Given the description of an element on the screen output the (x, y) to click on. 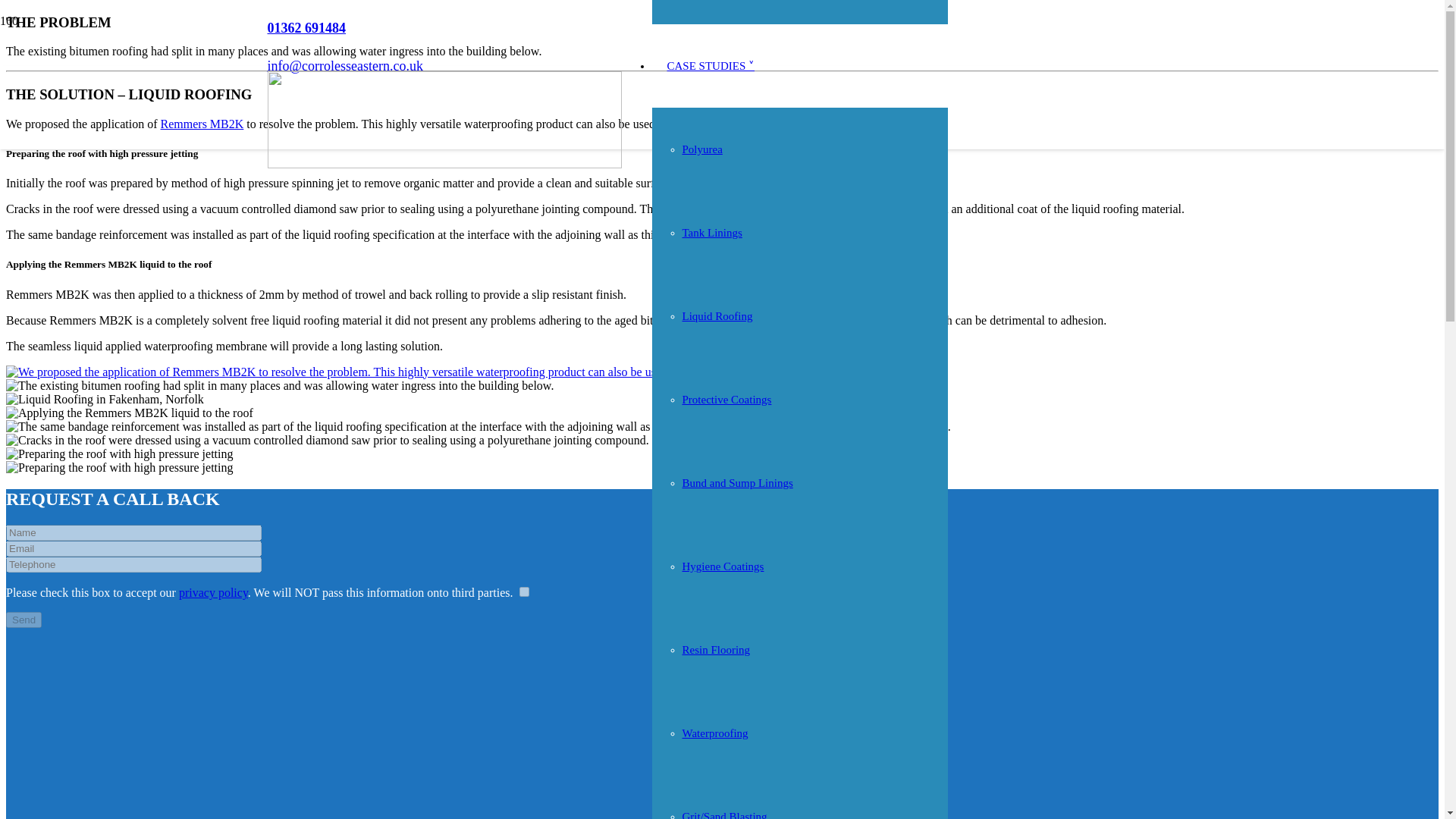
Tank Linings (712, 232)
01362 691484 (306, 28)
Send (23, 619)
Bund and Sump Linings (737, 482)
Polyurea (702, 149)
Waterproofing (715, 733)
1 (523, 592)
Liquid Roofing (717, 316)
Protective Coatings (726, 399)
Hygiene Coatings (723, 566)
Resin Flooring (716, 649)
